Given the description of an element on the screen output the (x, y) to click on. 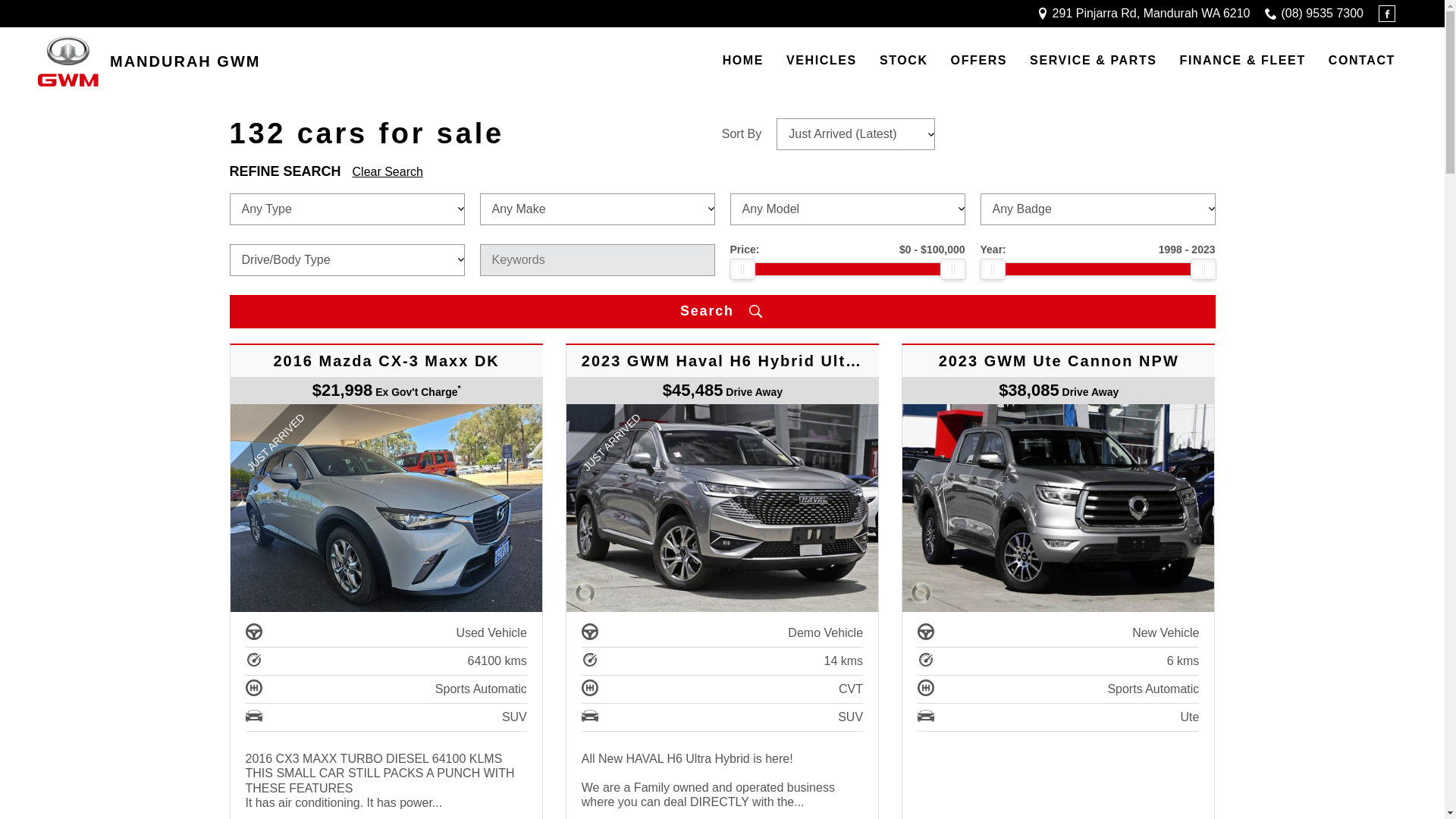
2023 GWM Ute Cannon NPW Element type: hover (1058, 507)
2016 Mazda CX-3 Maxx DK Element type: hover (386, 507)
Grid Element type: text (976, 134)
FINANCE & FLEET Element type: text (1242, 61)
STOCK Element type: text (903, 61)
HOME Element type: text (743, 61)
MANDURAH GWM Element type: text (148, 61)
SERVICE & PARTS Element type: text (1092, 61)
2023 GWM Haval H6 Hybrid Ultra Hybrid B01 Element type: hover (722, 507)
Search Element type: text (721, 310)
VEHICLES Element type: text (821, 61)
List Element type: text (1051, 134)
291 Pinjarra Rd, Mandurah WA 6210 Element type: text (1151, 13)
Saved Cars Element type: text (1153, 134)
CONTACT Element type: text (1361, 61)
Clear Search Element type: text (387, 172)
(08) 9535 7300 Element type: text (1321, 13)
OFFERS Element type: text (979, 61)
